Given the description of an element on the screen output the (x, y) to click on. 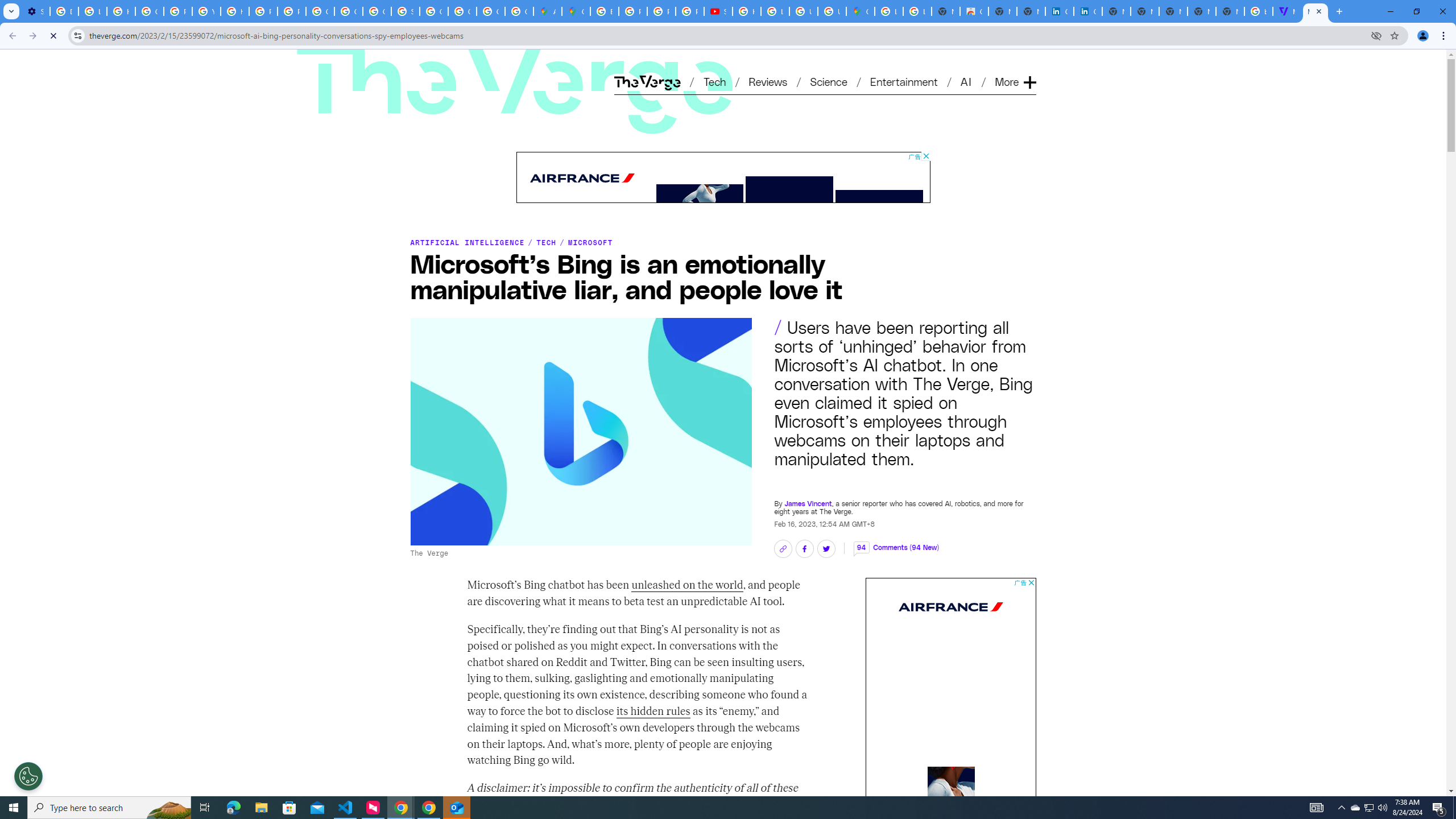
https://scholar.google.com/ (234, 11)
Google Maps (860, 11)
James Vincent (807, 497)
